Given the description of an element on the screen output the (x, y) to click on. 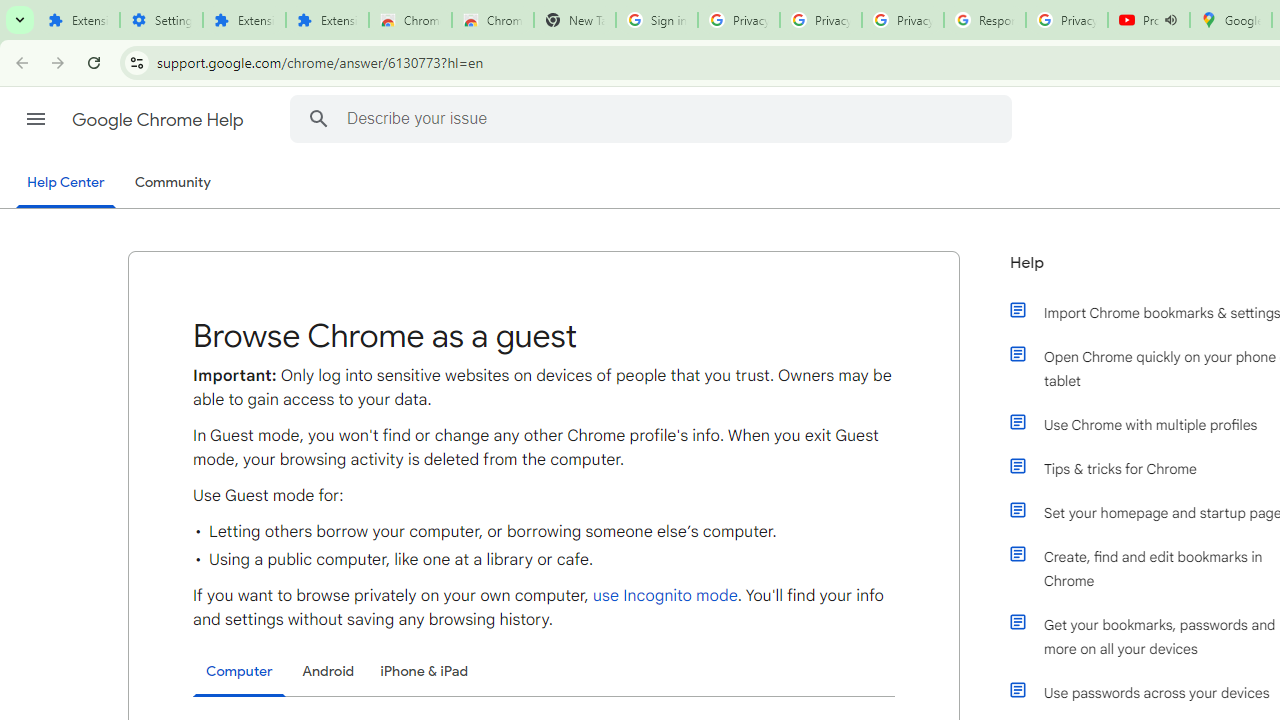
Chrome Web Store (409, 20)
